Given the description of an element on the screen output the (x, y) to click on. 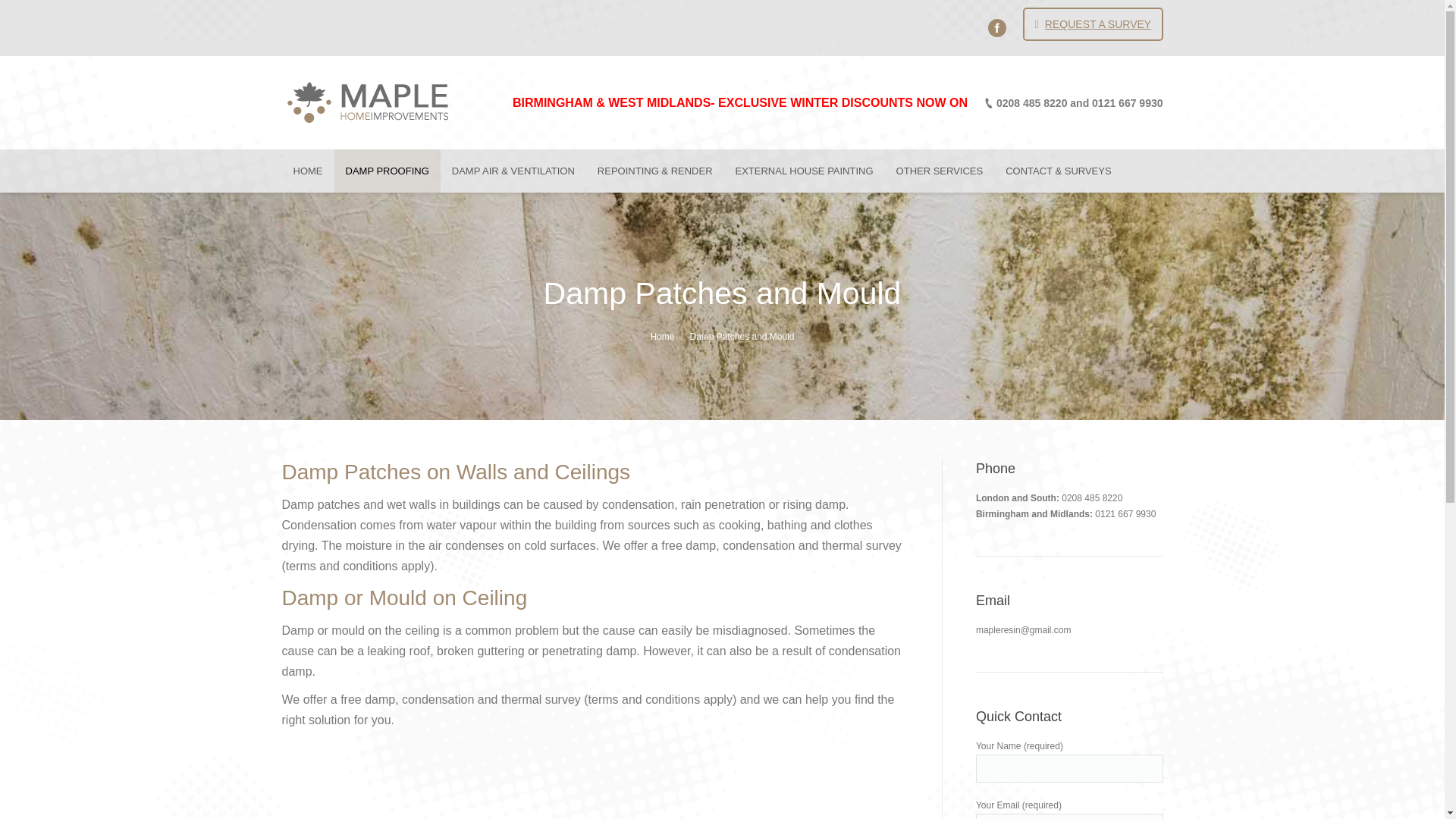
Facebook (997, 27)
REQUEST A SURVEY (1092, 23)
HOME (308, 170)
DAMP PROOFING (386, 170)
OTHER SERVICES (939, 170)
EXTERNAL HOUSE PAINTING (804, 170)
